Given the description of an element on the screen output the (x, y) to click on. 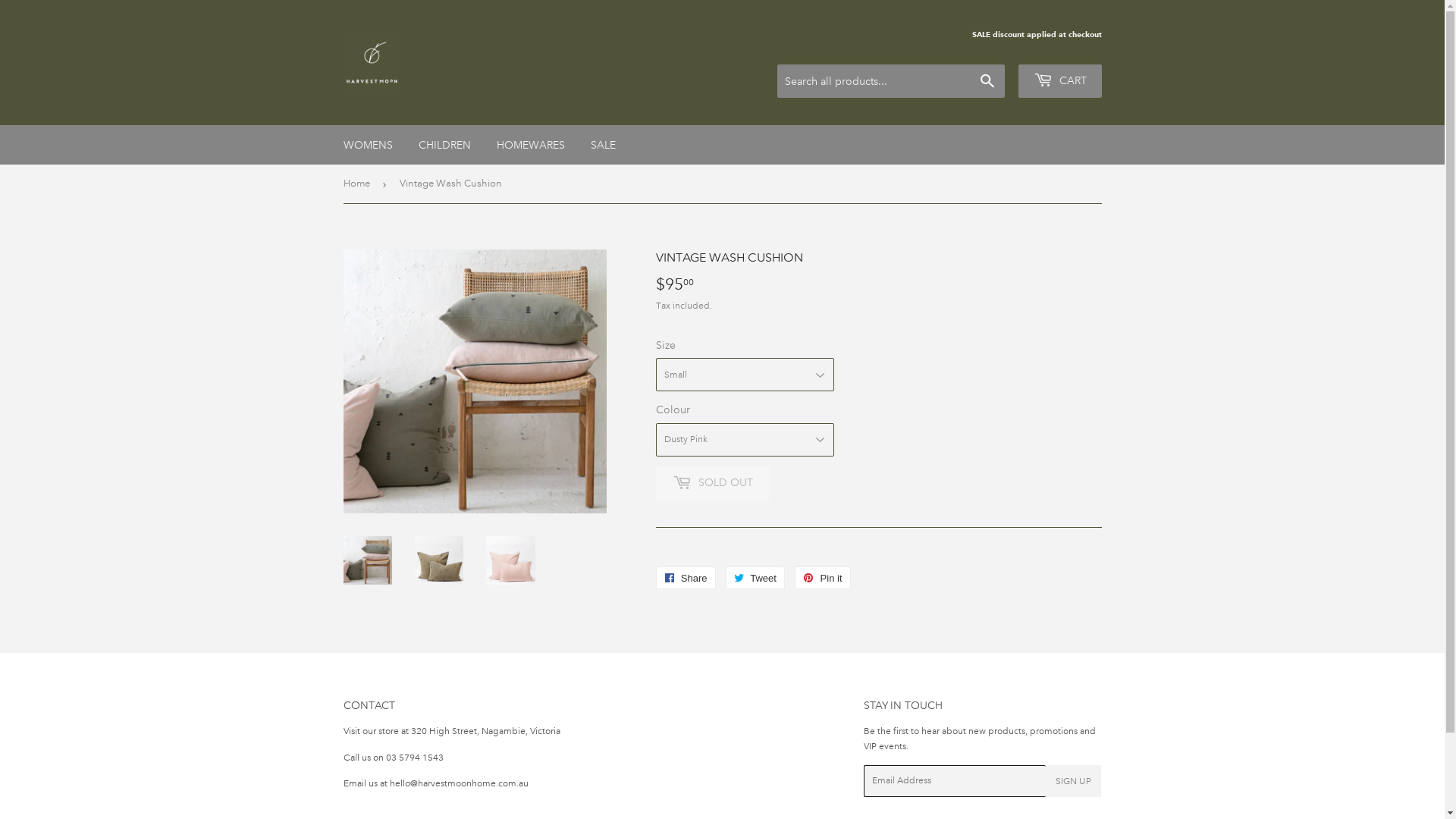
WOMENS Element type: text (368, 144)
SALE discount applied at checkout Element type: text (1036, 34)
Share
Share on Facebook Element type: text (685, 577)
CHILDREN Element type: text (443, 144)
HOMEWARES Element type: text (530, 144)
Tweet
Tweet on Twitter Element type: text (754, 577)
Search Element type: text (987, 81)
Home Element type: text (358, 183)
Pin it
Pin on Pinterest Element type: text (822, 577)
SALE Element type: text (603, 144)
SOLD OUT Element type: text (711, 482)
SIGN UP Element type: text (1073, 781)
CART Element type: text (1059, 80)
